Given the description of an element on the screen output the (x, y) to click on. 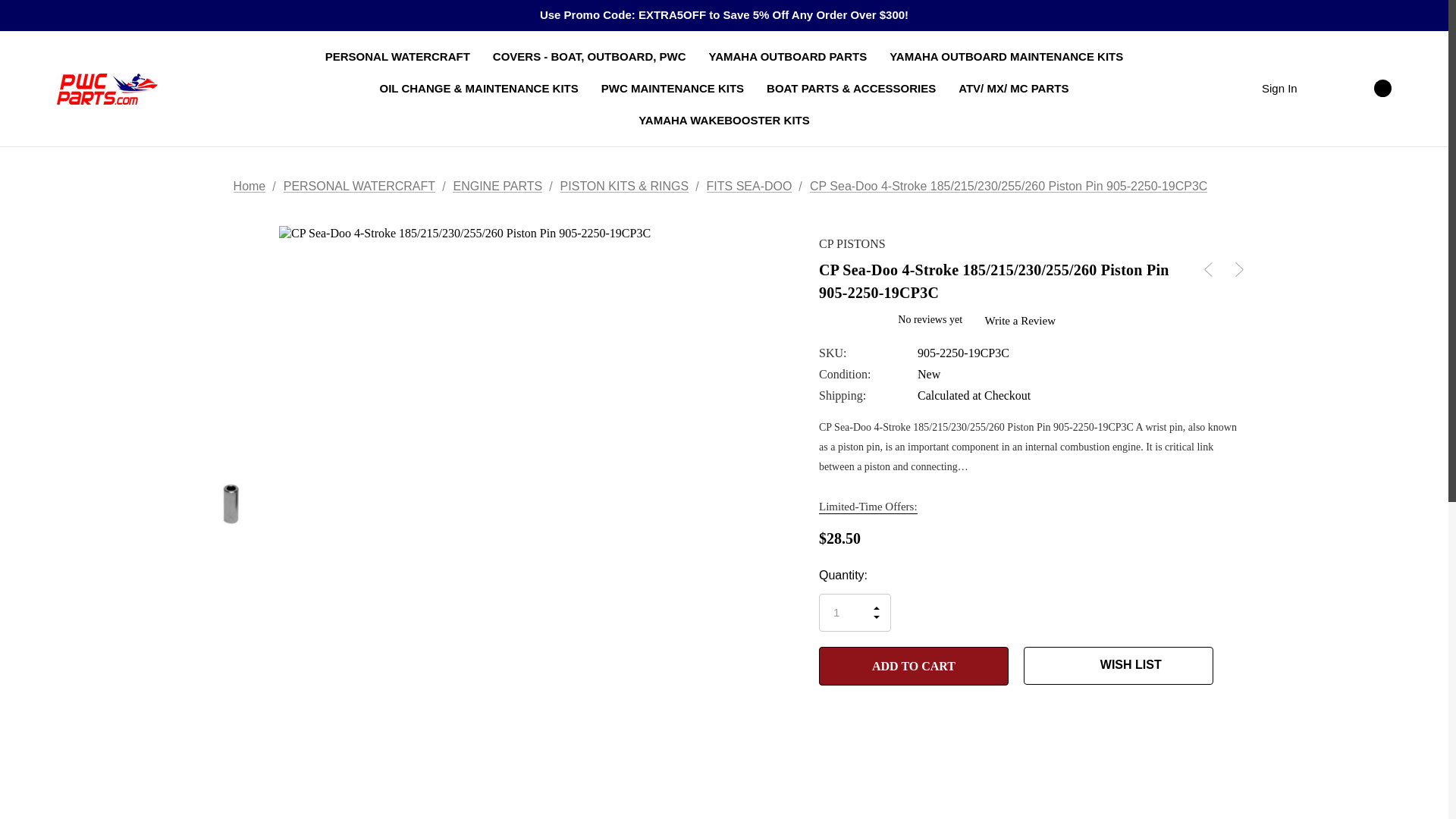
PERSONAL WATERCRAFT (397, 56)
Add to Cart (913, 666)
PWCParts.com (106, 88)
1 (854, 612)
